Given the description of an element on the screen output the (x, y) to click on. 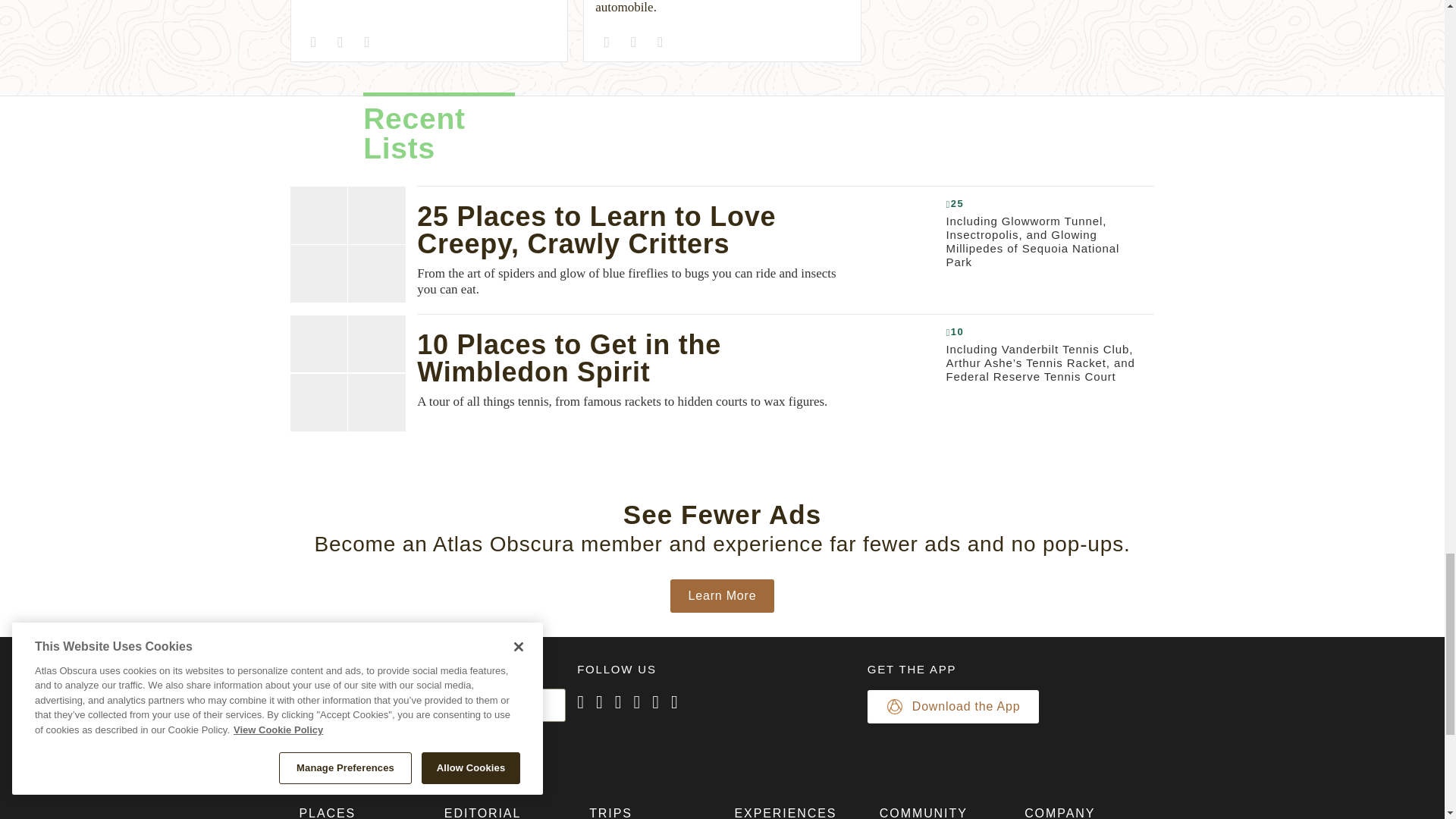
Submit (331, 738)
